Given the description of an element on the screen output the (x, y) to click on. 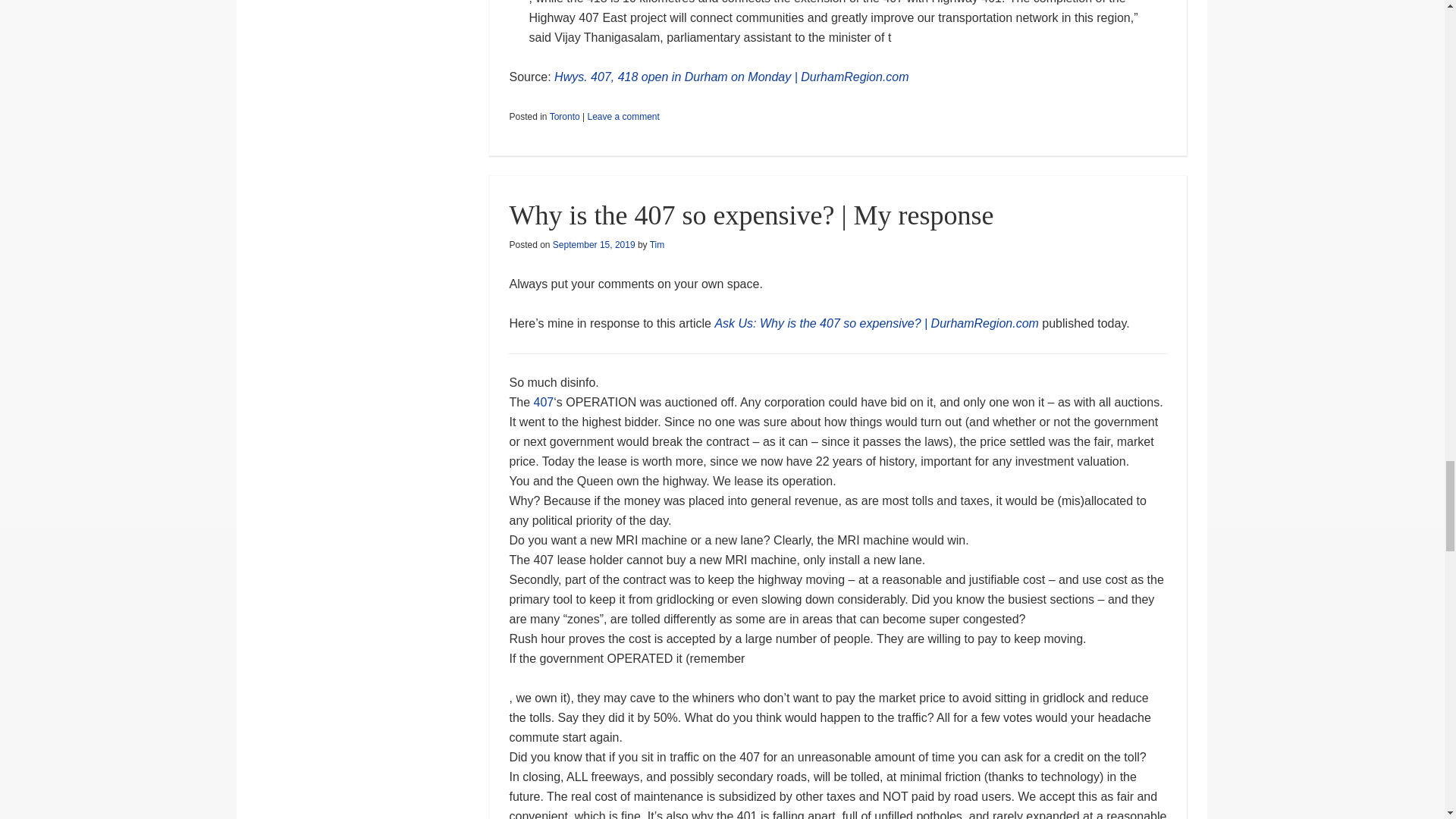
Leave a comment (622, 116)
Tim (657, 244)
5:55 pm (593, 244)
Toronto (564, 116)
407 (544, 401)
View all posts by Tim (657, 244)
September 15, 2019 (593, 244)
